Given the description of an element on the screen output the (x, y) to click on. 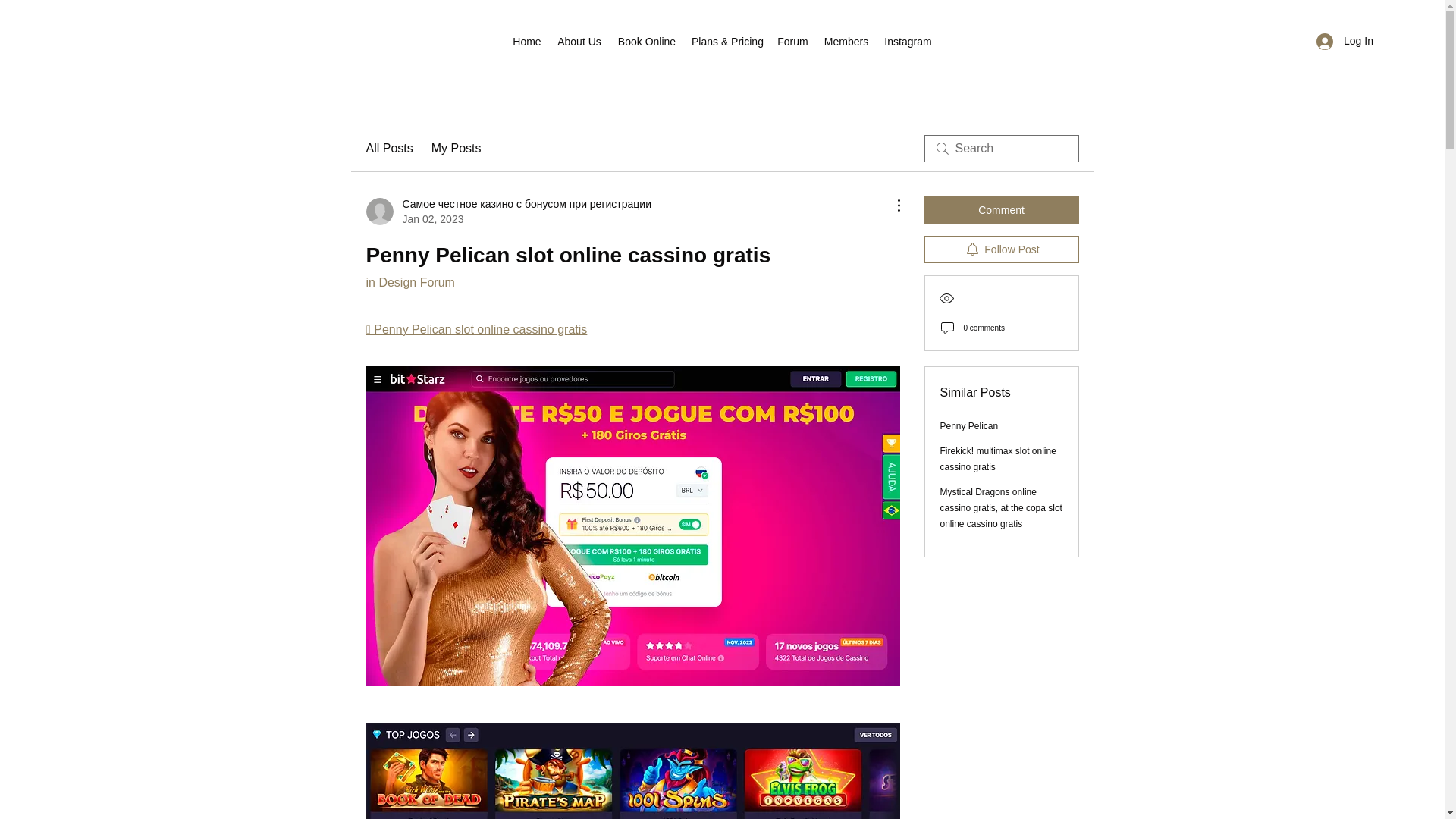
Members (845, 41)
Book Online (647, 41)
in Design Forum (409, 282)
My Posts (455, 148)
Home (526, 41)
Instagram (907, 41)
Penny Pelican (969, 425)
Log In (1345, 41)
All Posts (388, 148)
Forum (792, 41)
Follow Post (1000, 248)
About Us (579, 41)
Firekick! multimax slot online cassino gratis (998, 458)
Comment (1000, 209)
